Given the description of an element on the screen output the (x, y) to click on. 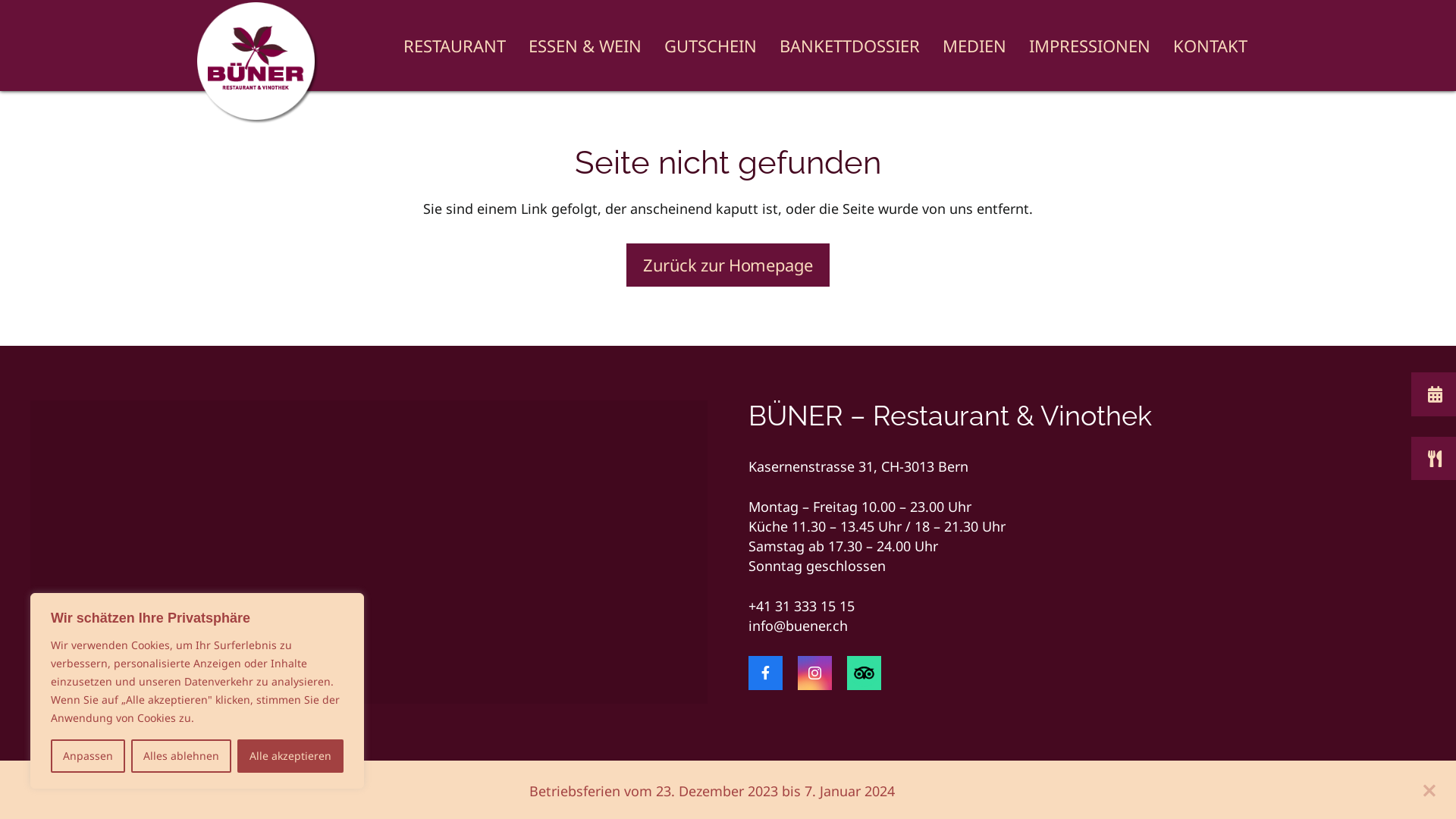
newcom360 Element type: text (141, 754)
Facebook Element type: hover (765, 672)
IMPRESSIONEN Element type: text (1089, 45)
Instagram Element type: hover (814, 672)
Alle akzeptieren Element type: text (290, 755)
KONTAKT Element type: text (1209, 45)
Alles ablehnen Element type: text (181, 755)
RESTAURANT Element type: text (454, 45)
BANKETTDOSSIER Element type: text (849, 45)
ESSEN & WEIN Element type: text (584, 45)
MEDIEN Element type: text (974, 45)
Anpassen Element type: text (87, 755)
info@buener.ch Element type: text (797, 625)
GUTSCHEIN Element type: text (710, 45)
+41 31 333 15 15 Element type: text (801, 605)
